Given the description of an element on the screen output the (x, y) to click on. 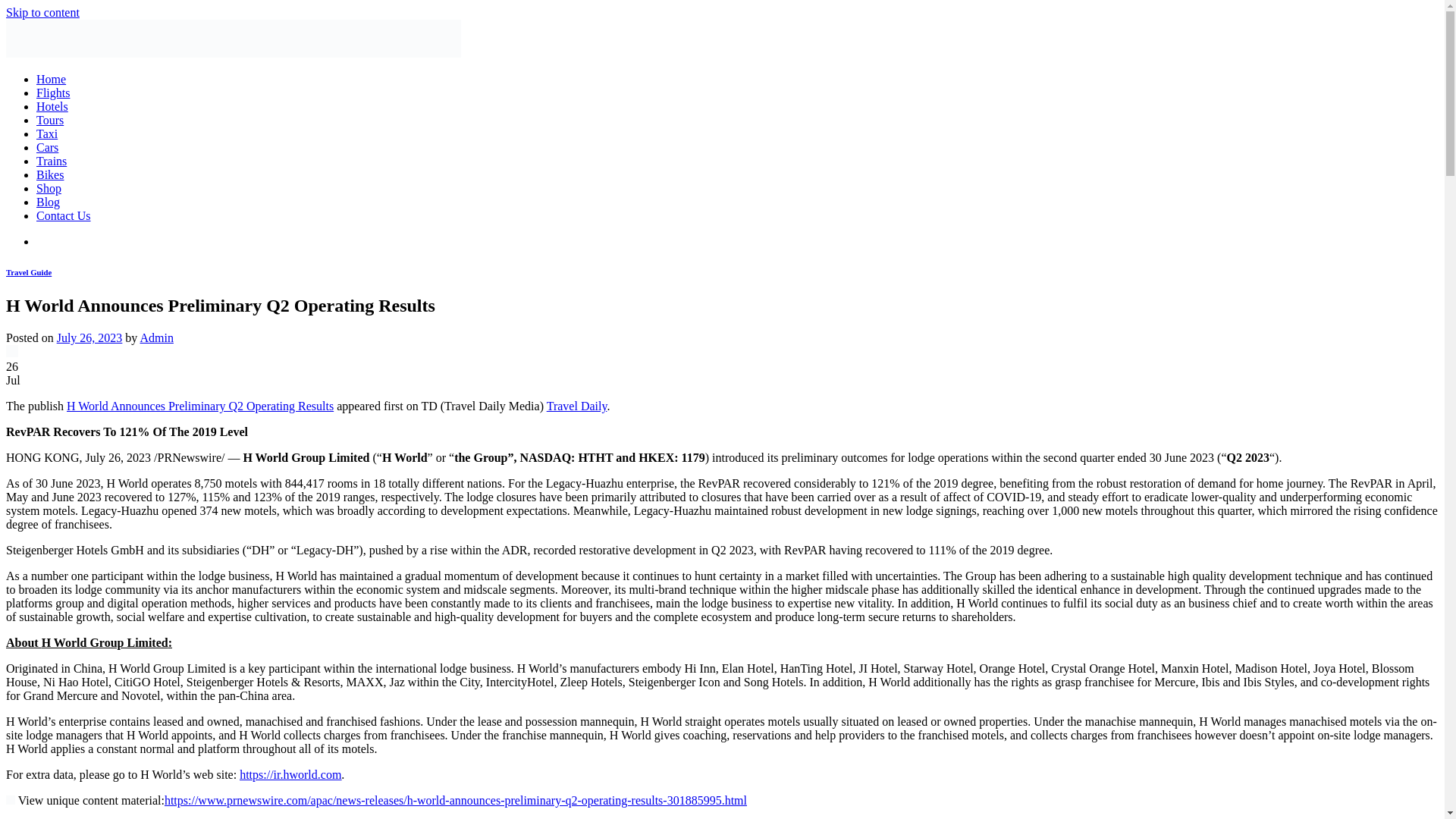
Hotels (52, 106)
Skip to content (42, 11)
H World Announces Preliminary Q2 Operating Results (199, 405)
Taxi (47, 133)
Home (50, 78)
July 26, 2023 (89, 337)
Trains (51, 160)
Shop (48, 187)
Tours (50, 119)
Flights (52, 92)
Admin (156, 337)
Cision (9, 799)
bookingtwo - Get Deals on flights and hotels (233, 52)
Contact Us (63, 215)
Cars (47, 146)
